Given the description of an element on the screen output the (x, y) to click on. 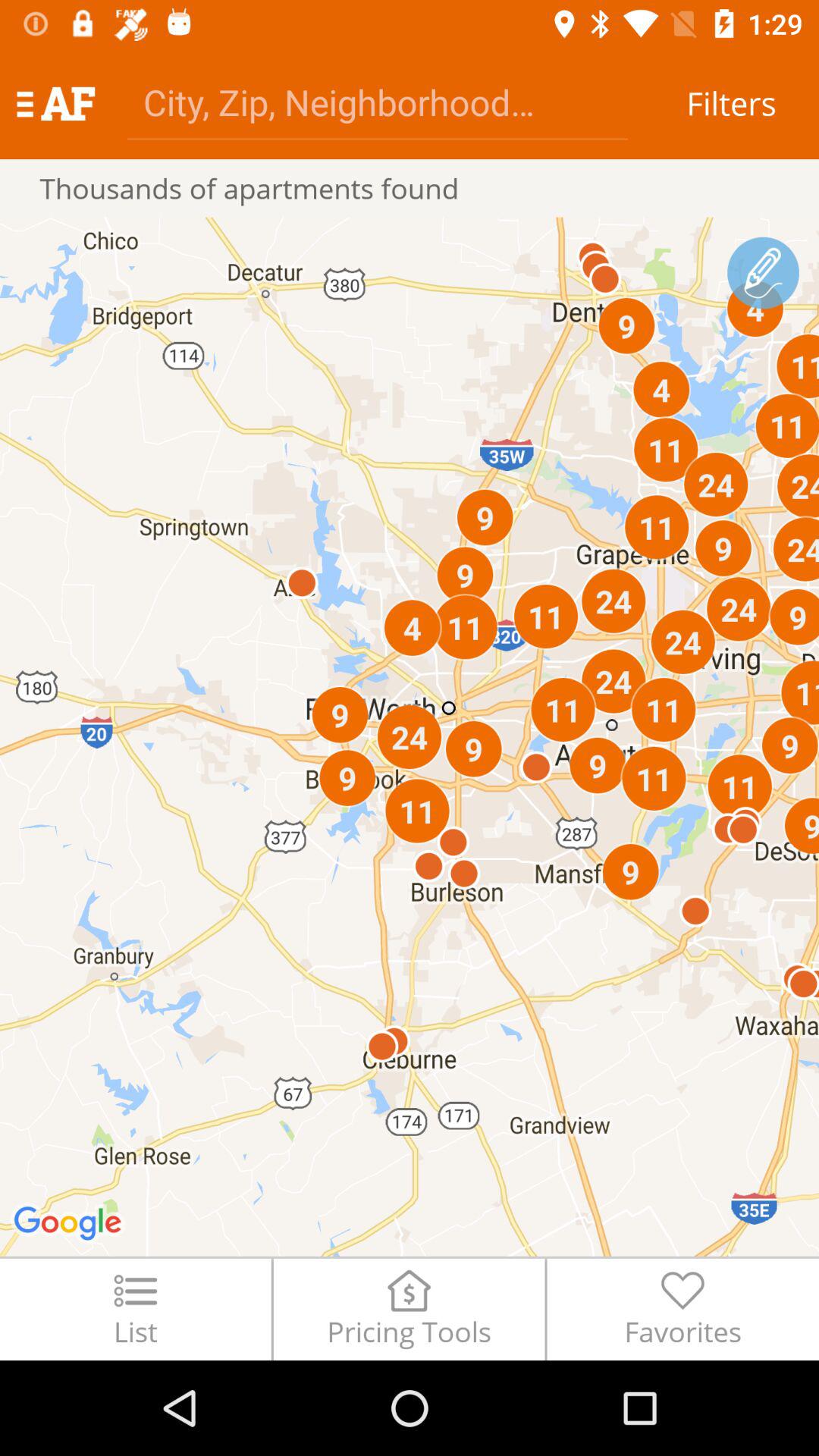
search (377, 102)
